Given the description of an element on the screen output the (x, y) to click on. 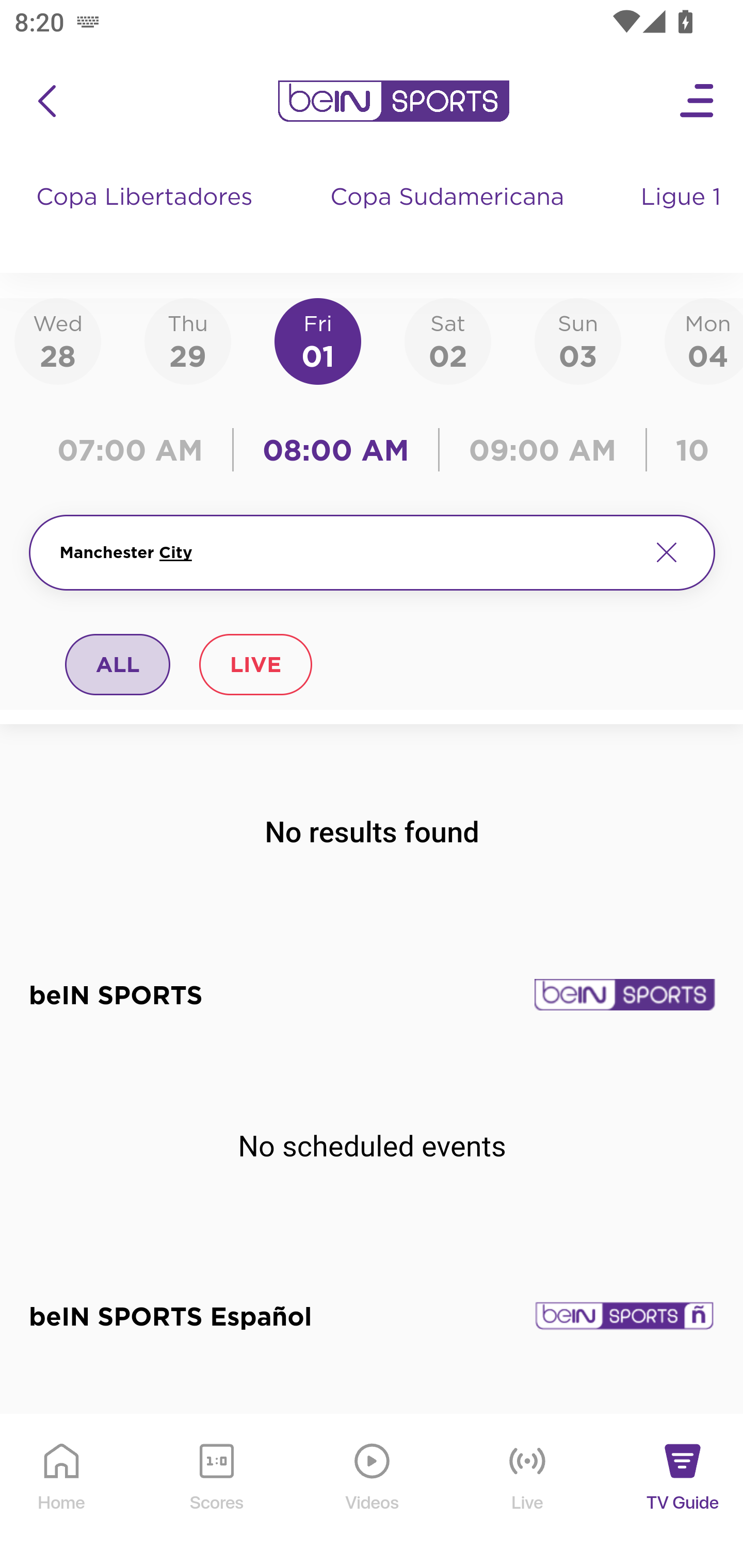
en-us?platform=mobile_android bein logo (392, 101)
icon back (46, 101)
Open Menu Icon (697, 101)
Copa Libertadores (146, 216)
Copa Sudamericana (448, 216)
Ligue 1 (682, 216)
Wed28 (58, 340)
Thu29 (187, 340)
Fri01 (318, 340)
Sat02 (447, 340)
Sun03 (578, 340)
Mon04 (703, 340)
07:00 AM (135, 449)
08:00 AM (336, 449)
09:00 AM (542, 449)
Manchester City (346, 552)
ALL (118, 663)
LIVE (255, 663)
Home Home Icon Home (61, 1491)
Scores Scores Icon Scores (216, 1491)
Videos Videos Icon Videos (372, 1491)
TV Guide TV Guide Icon TV Guide (682, 1491)
